Given the description of an element on the screen output the (x, y) to click on. 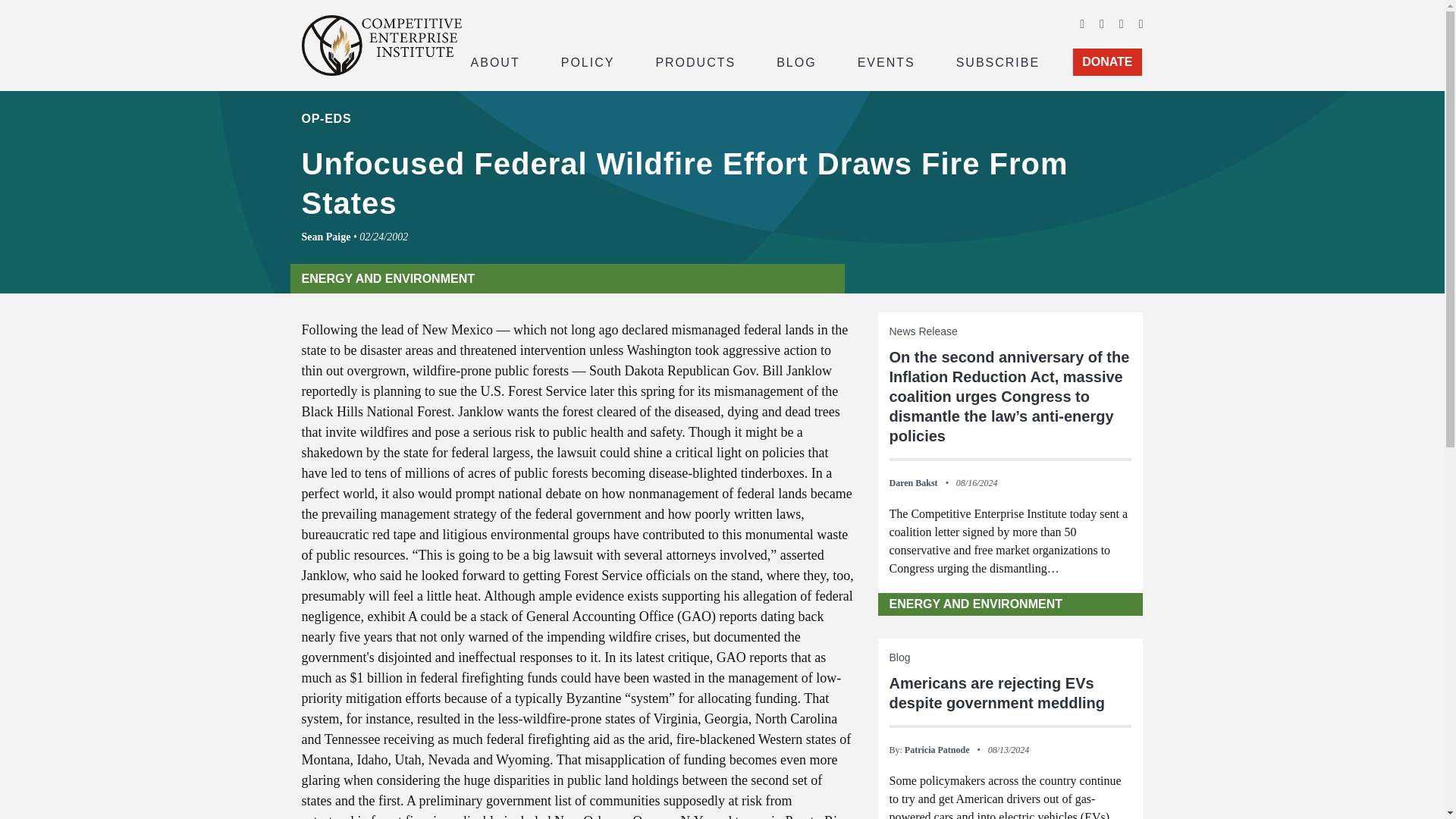
BLOG (796, 61)
DONATE (1107, 62)
SUBSCRIBE (997, 61)
POLICY (588, 61)
EVENTS (886, 61)
PRODUCTS (694, 61)
ABOUT (495, 61)
